Given the description of an element on the screen output the (x, y) to click on. 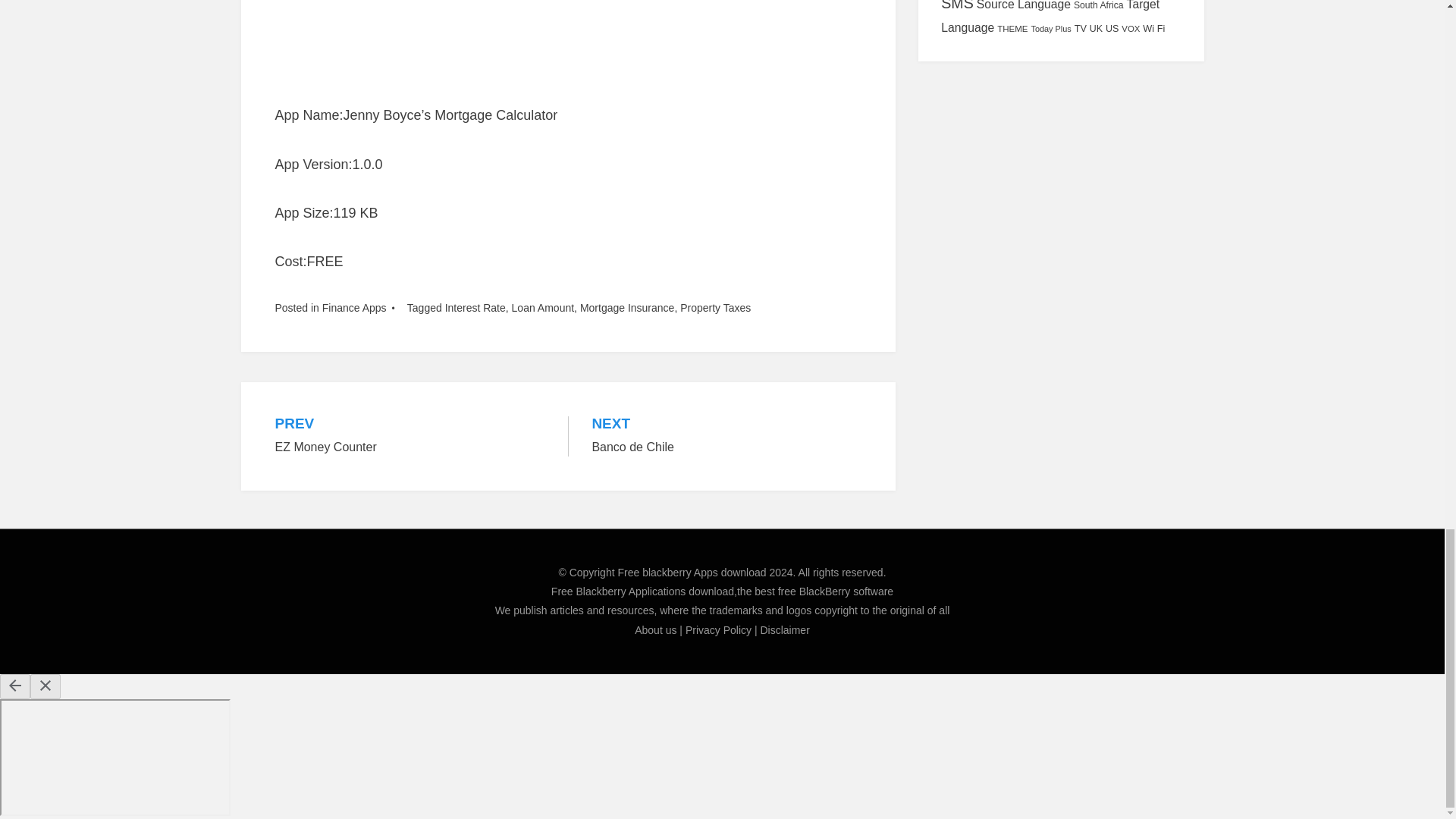
Finance Apps (354, 307)
Mortgage Insurance (726, 436)
Interest Rate (627, 307)
Property Taxes (409, 436)
Loan Amount (475, 307)
